Given the description of an element on the screen output the (x, y) to click on. 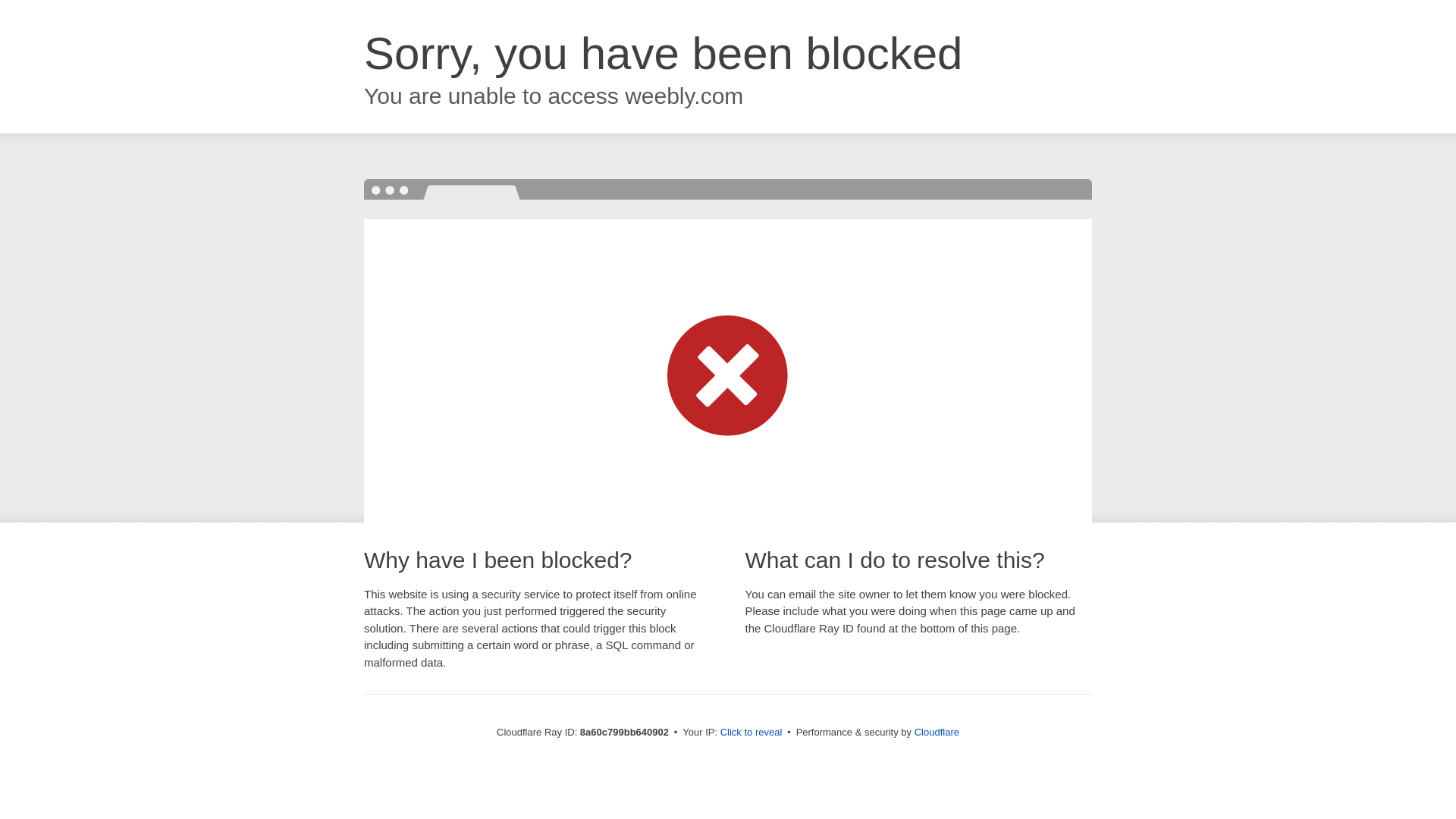
Click to reveal (751, 732)
Cloudflare (936, 731)
